Given the description of an element on the screen output the (x, y) to click on. 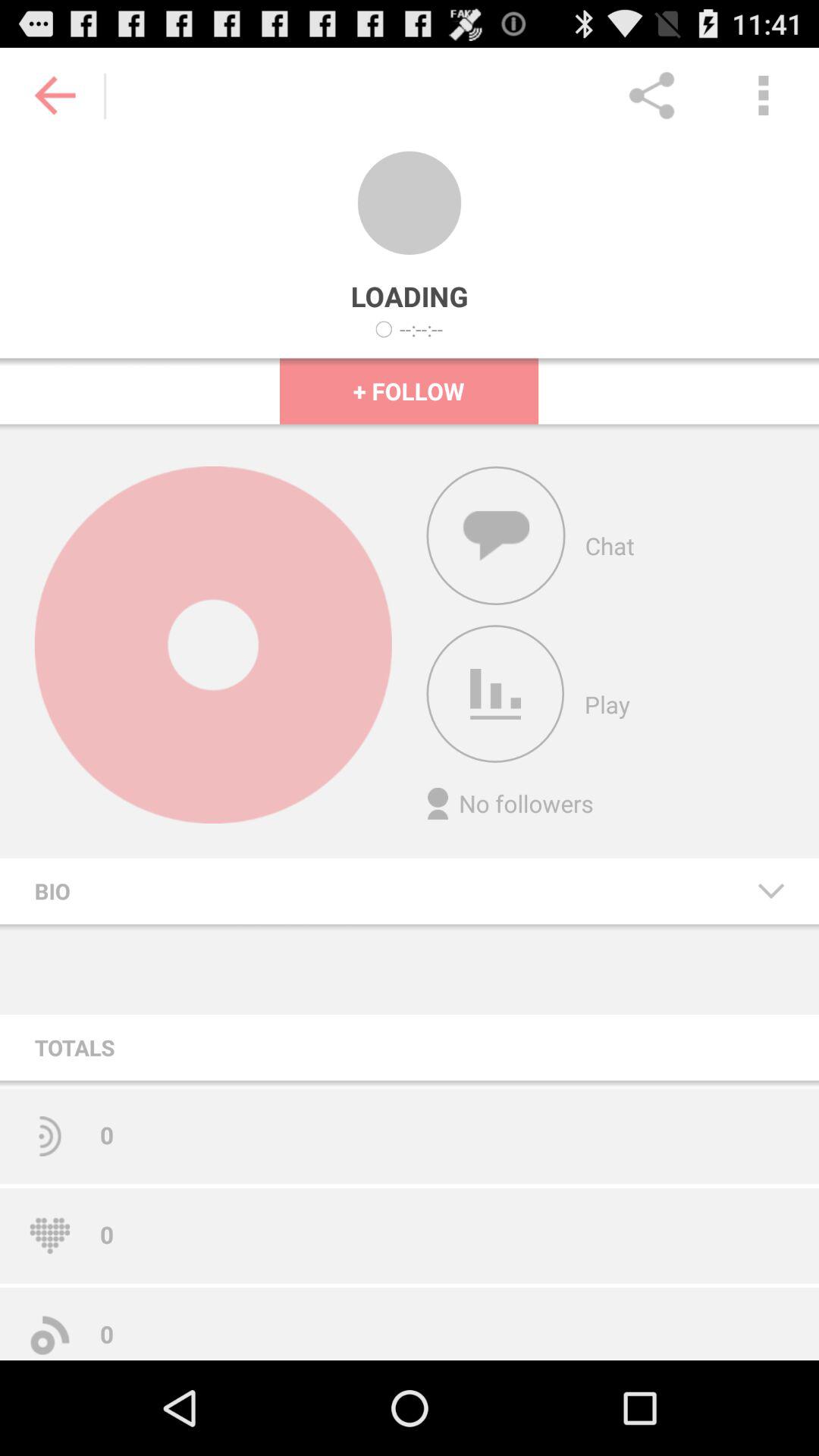
click icon next to the play item (495, 694)
